Given the description of an element on the screen output the (x, y) to click on. 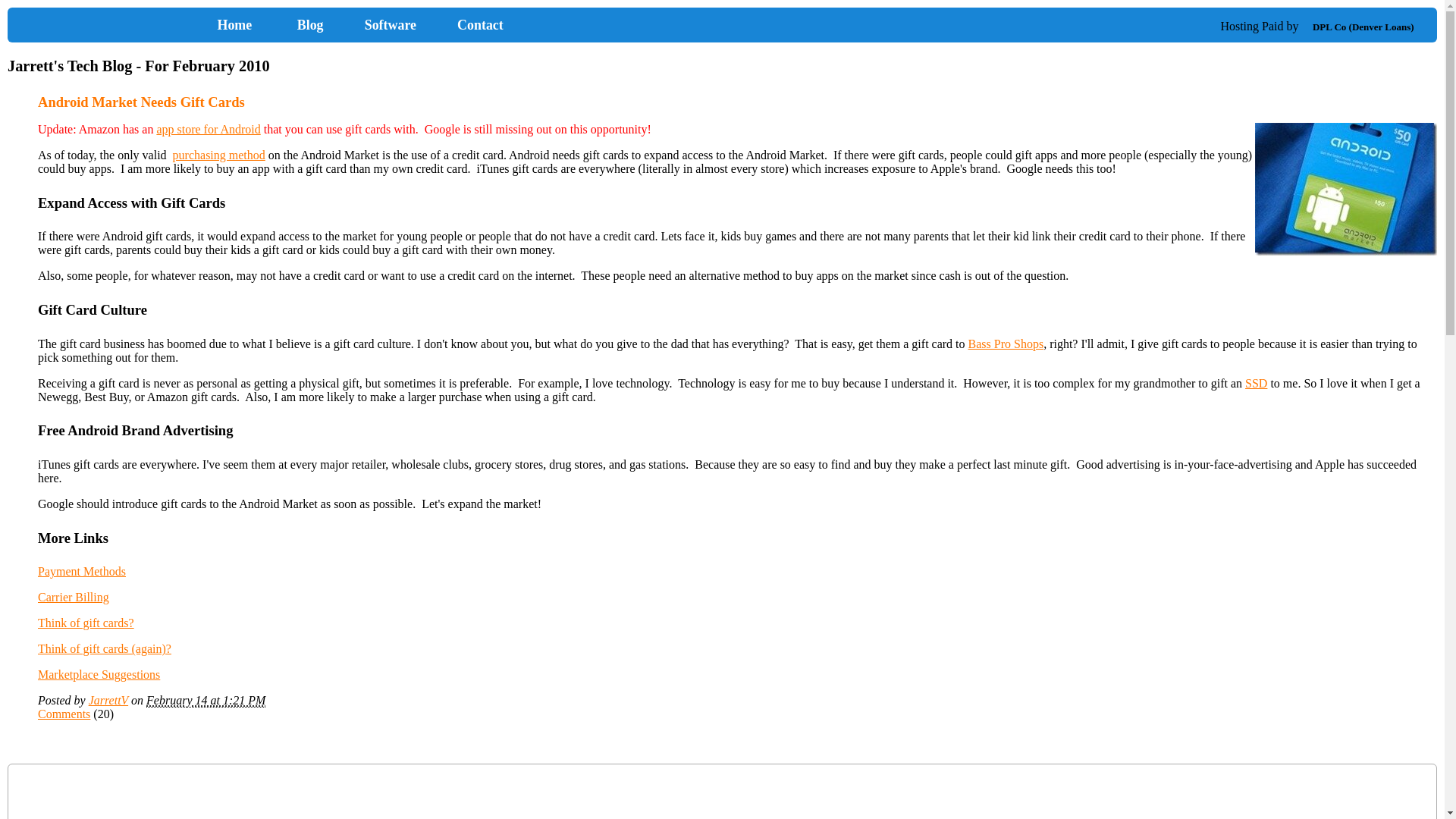
Marketplace Suggestions (98, 674)
Blog (309, 24)
Software (390, 24)
Carrier Billing (73, 596)
JarrettV (108, 699)
Comments (63, 713)
Payment Methods (81, 571)
DPL Co - DenverPayday.Loan Company (1363, 27)
Home (158, 25)
purchasing method (218, 154)
Bass Pro Shops (1005, 343)
Contact (480, 24)
SSD (1255, 382)
Think of gift cards? (85, 622)
Android Market Needs Gift Cards (140, 101)
